Given the description of an element on the screen output the (x, y) to click on. 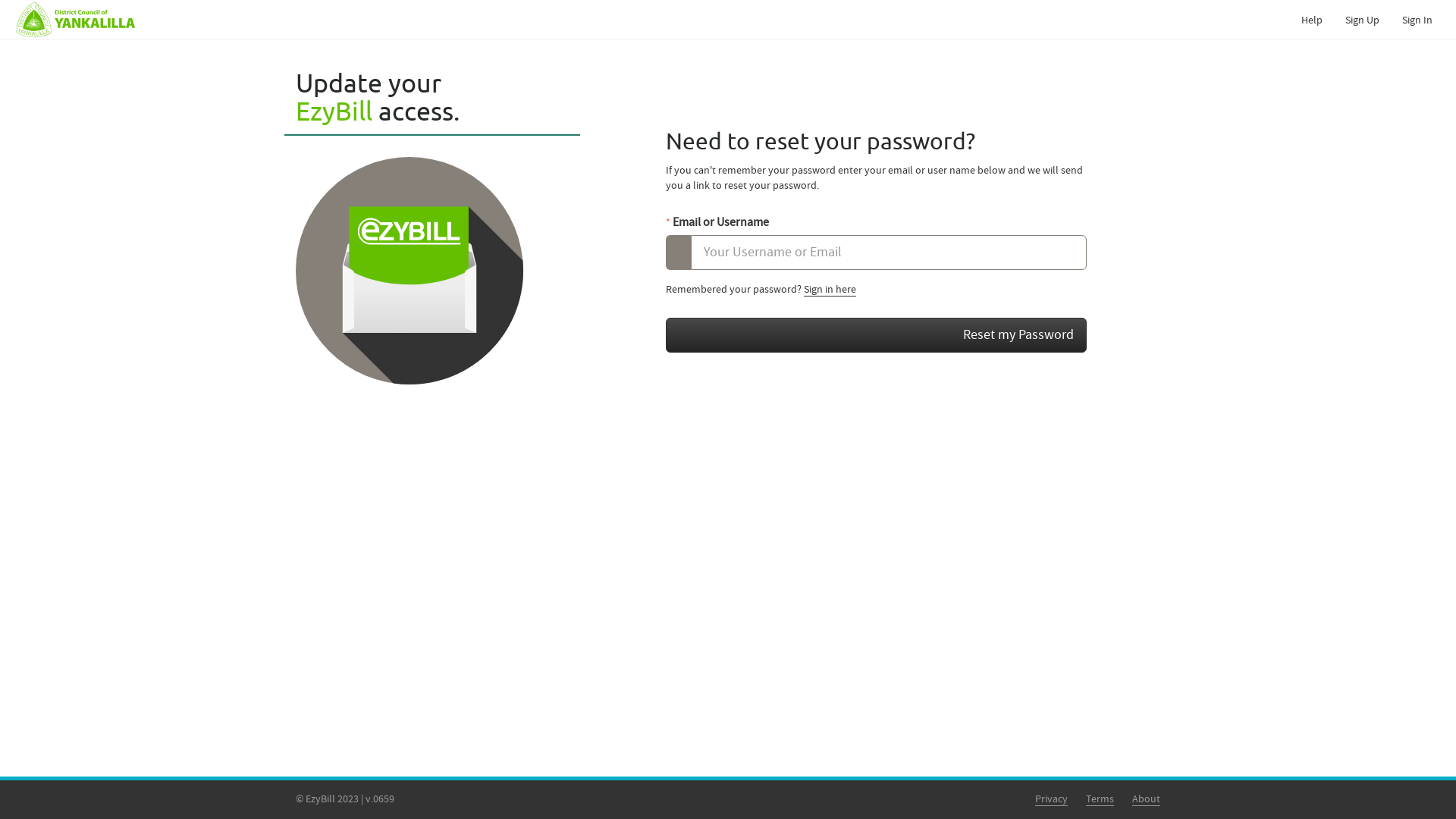
Terms Element type: text (1099, 798)
Sign In Element type: text (1416, 19)
District Council of Yankalilla Element type: text (68, 19)
Sign in here Element type: text (829, 289)
Sign Up Element type: text (1361, 19)
Help Element type: text (1311, 19)
Privacy Element type: text (1051, 798)
About Element type: text (1146, 798)
Reset my Password Element type: text (875, 334)
